Given the description of an element on the screen output the (x, y) to click on. 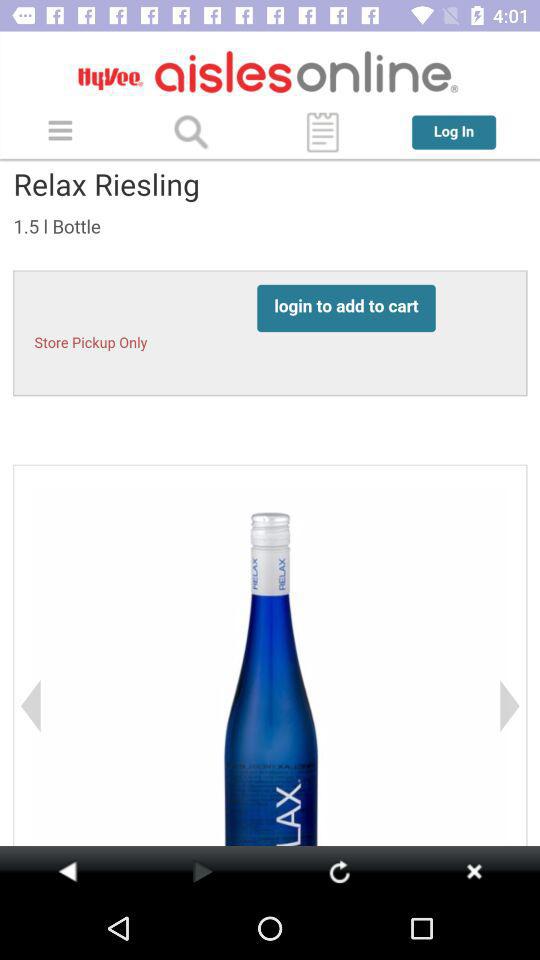
go back one page (67, 871)
